Given the description of an element on the screen output the (x, y) to click on. 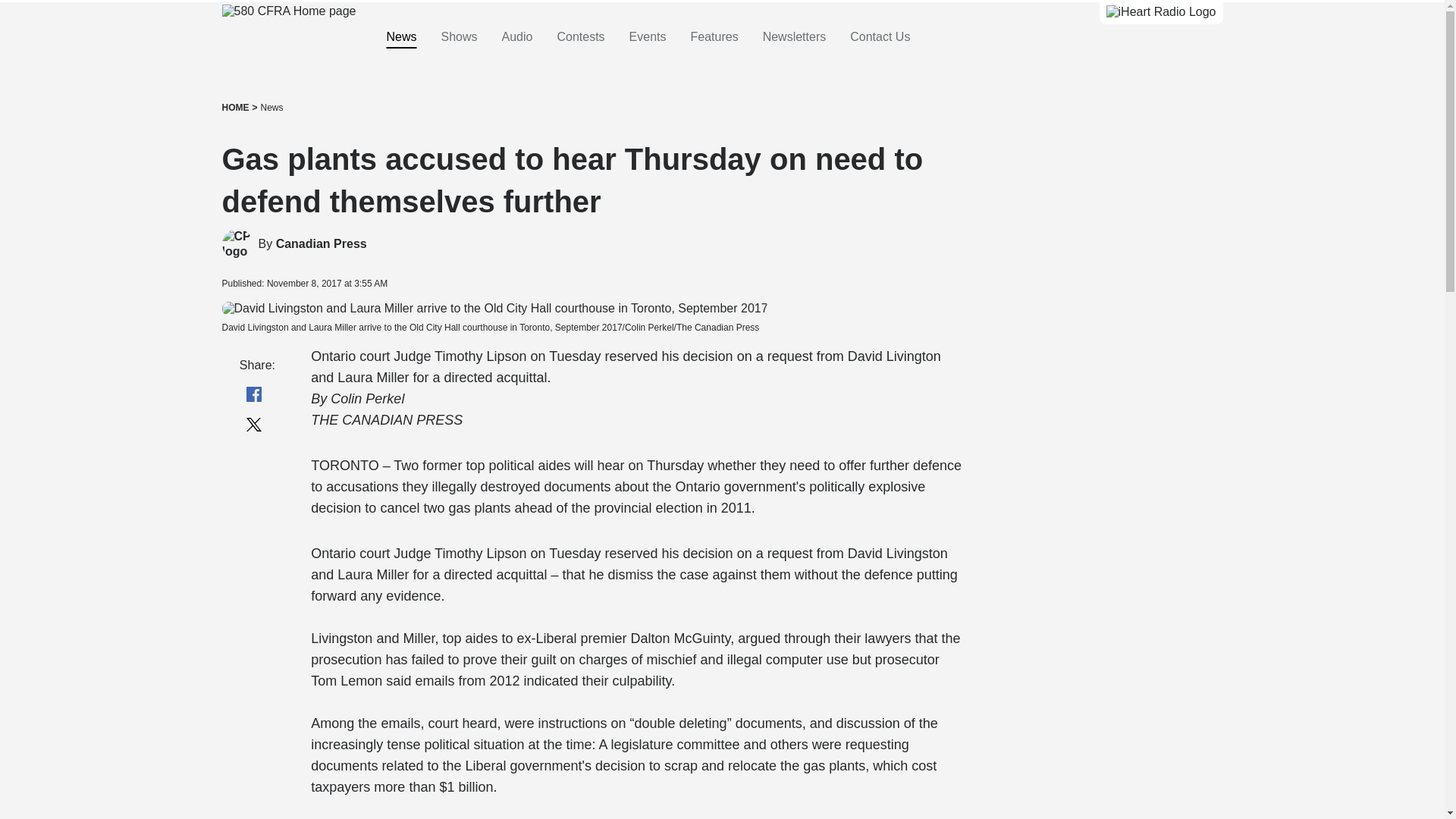
Canadian Press (321, 243)
Newsletters (794, 37)
Contests (580, 37)
Canadian Press (236, 244)
Canadian Press (321, 243)
Contact Us (880, 37)
News (271, 107)
Features (714, 37)
HOME (234, 107)
